Given the description of an element on the screen output the (x, y) to click on. 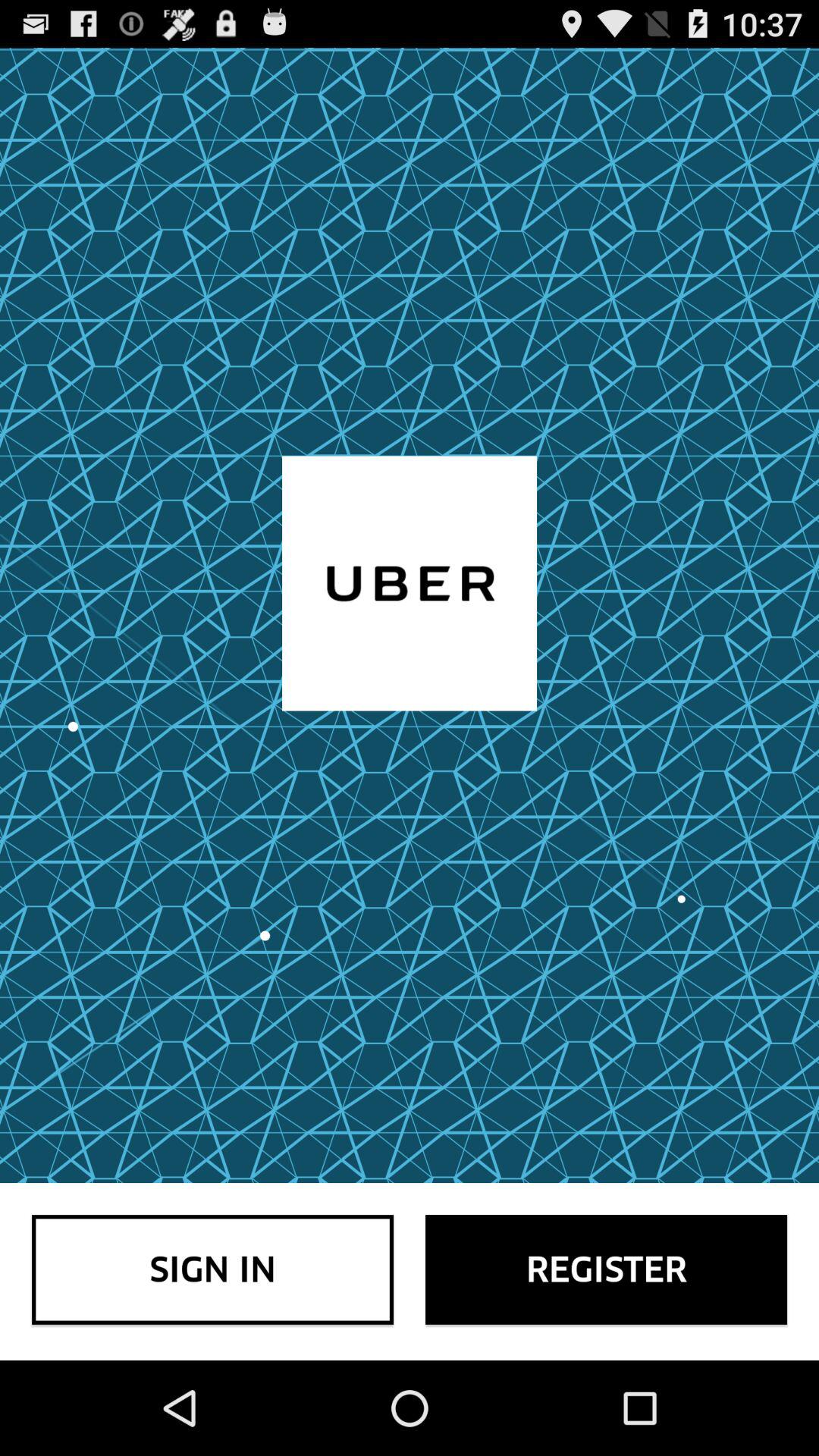
swipe to the register item (606, 1269)
